Given the description of an element on the screen output the (x, y) to click on. 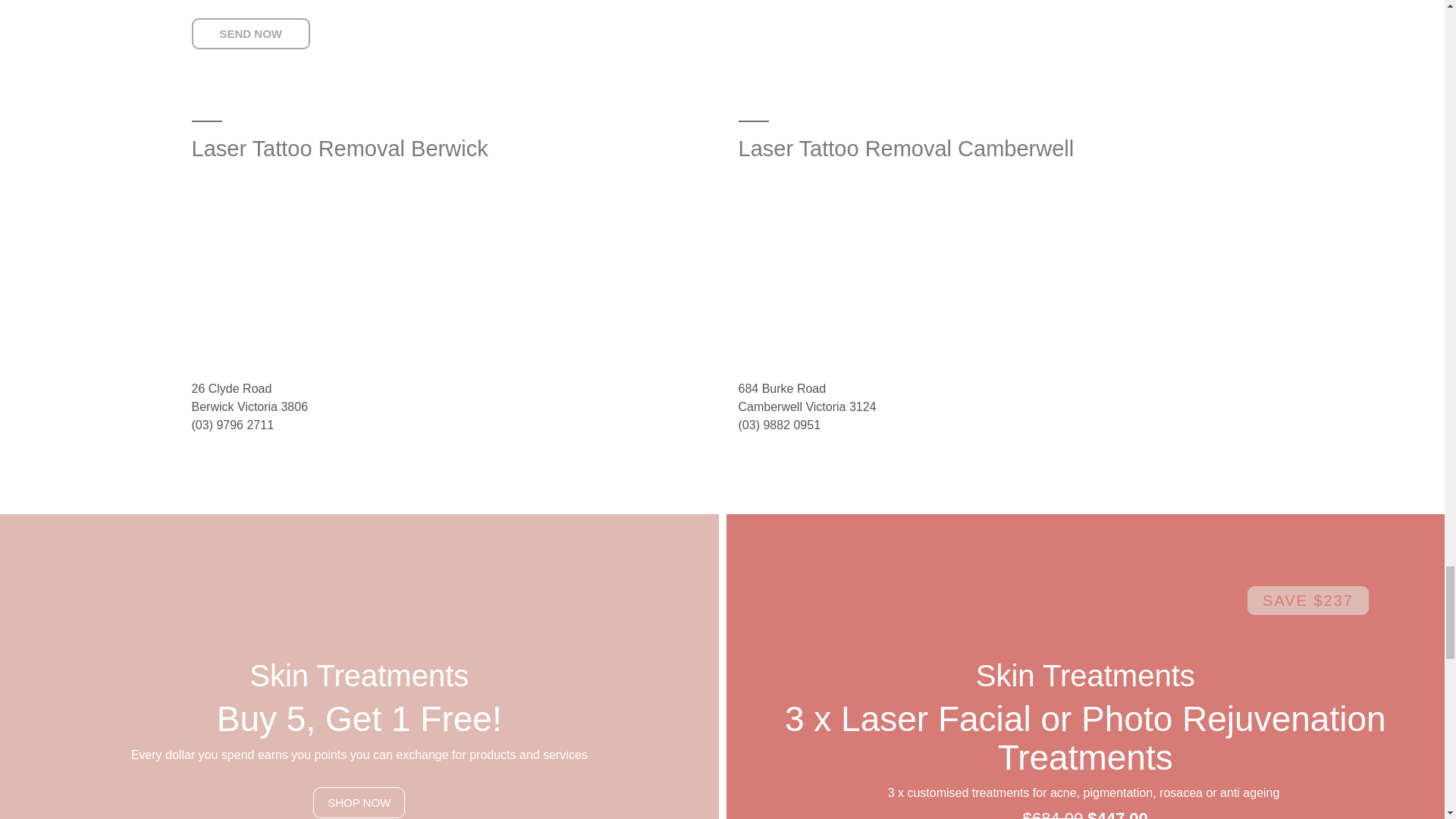
SEND NOW (250, 33)
